Given the description of an element on the screen output the (x, y) to click on. 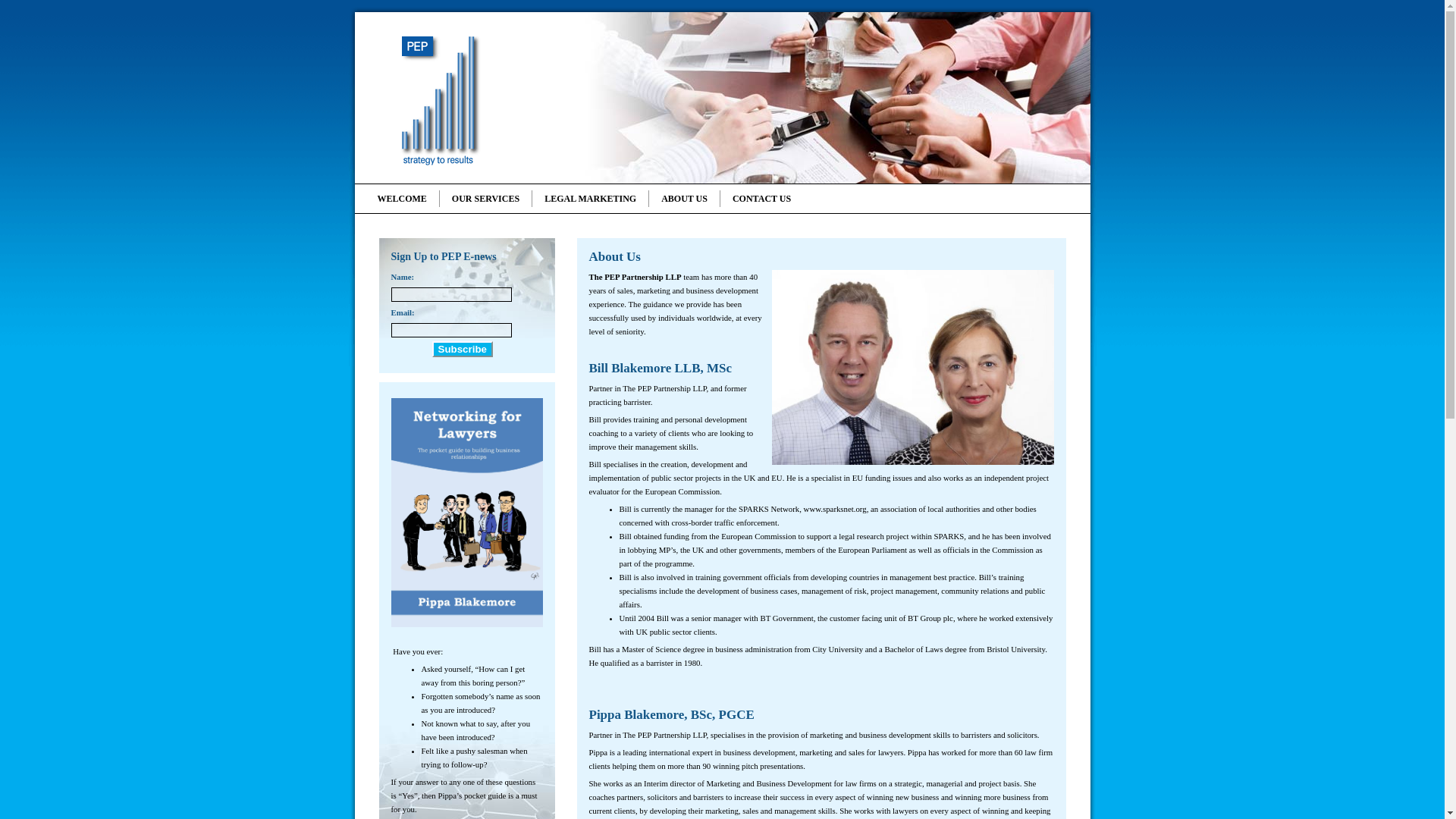
Subscribe (462, 349)
Convert this amount (692, 662)
WELCOME (408, 198)
ABOUT US (683, 198)
CONTACT US (761, 198)
Convert this amount (753, 276)
LEGAL MARKETING (589, 198)
Subscribe (462, 349)
OUR SERVICES (485, 198)
